Given the description of an element on the screen output the (x, y) to click on. 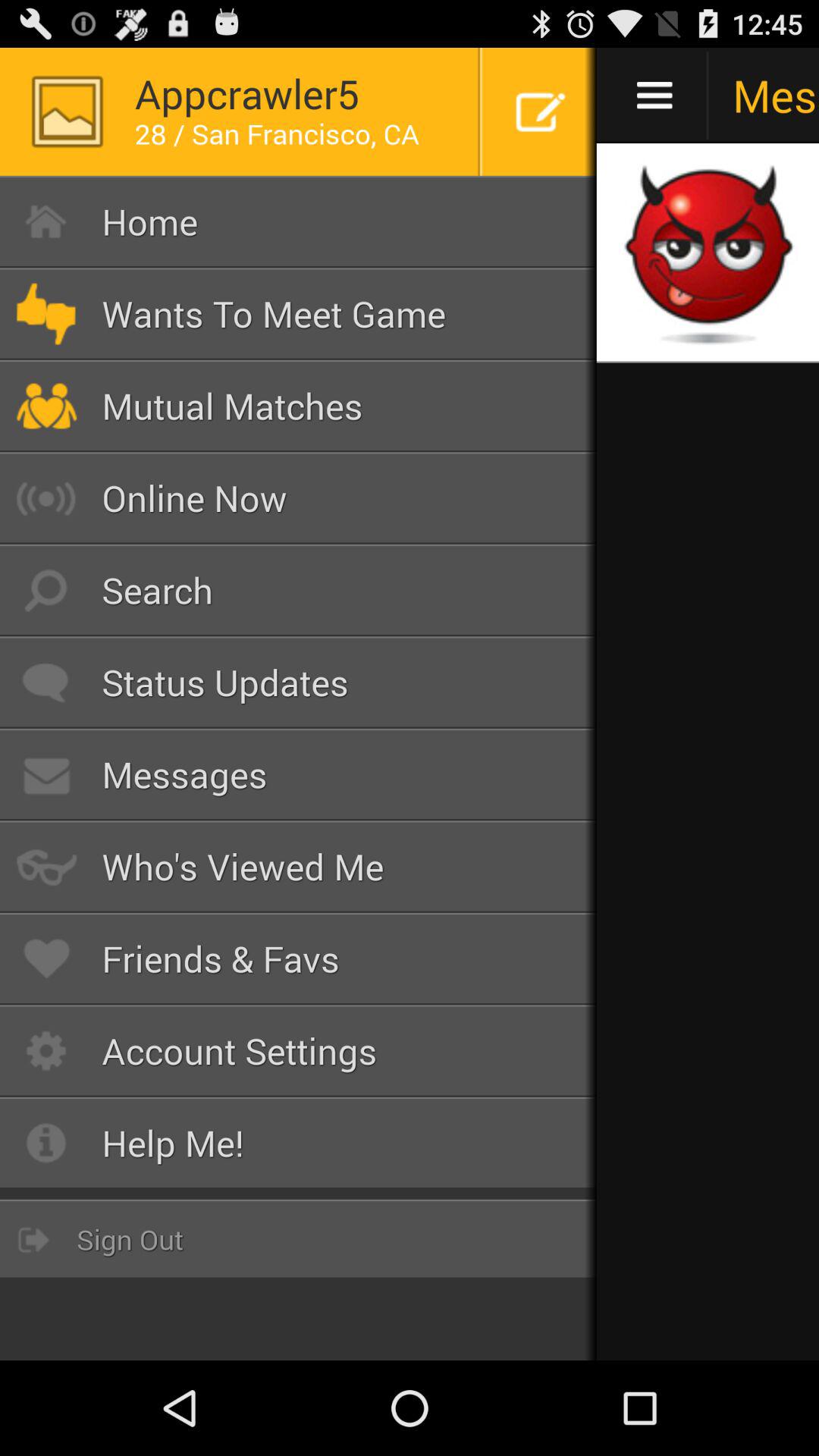
jump to online now button (298, 498)
